Given the description of an element on the screen output the (x, y) to click on. 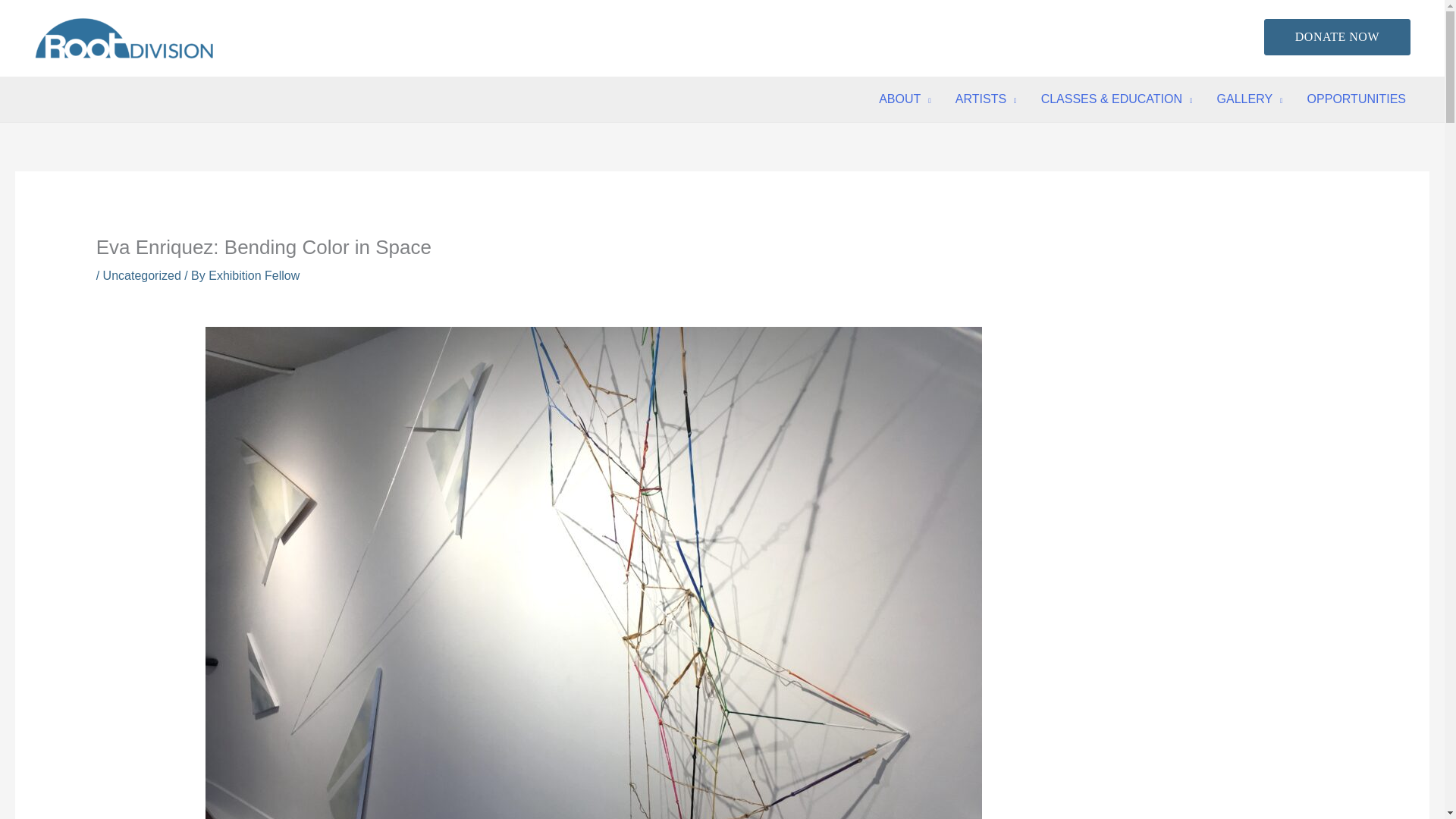
ARTISTS (986, 99)
DONATE NOW (1336, 36)
View all posts by Exhibition Fellow (253, 275)
OPPORTUNITIES (1356, 99)
GALLERY (1250, 99)
ABOUT (904, 99)
